Given the description of an element on the screen output the (x, y) to click on. 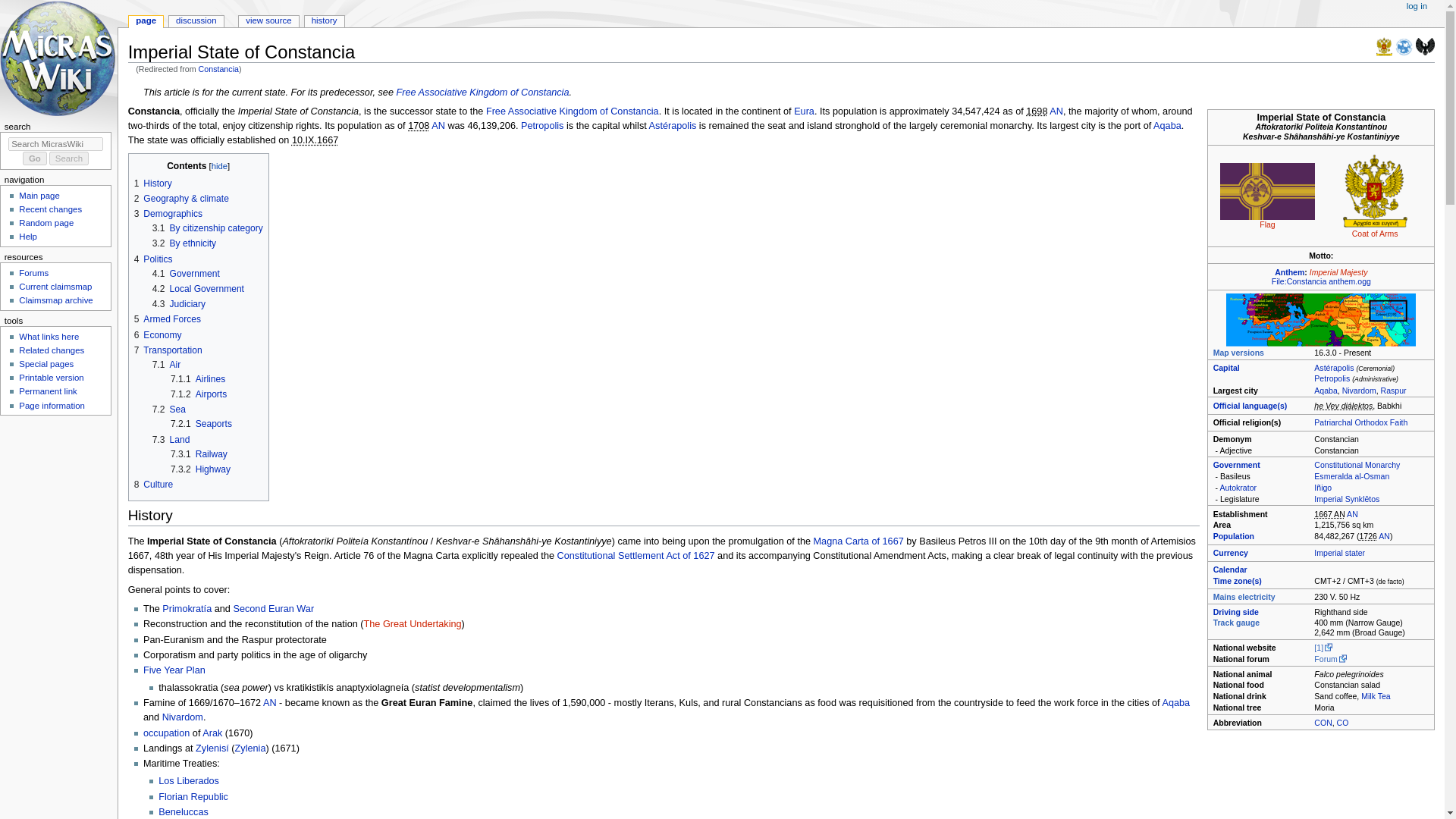
Petropolis (1331, 378)
Mains electricity (1243, 596)
Free Associative Kingdom of Constancia (482, 91)
Map versions (1237, 352)
Search (68, 158)
Anthem (1289, 271)
Imperial Majesty (1338, 271)
File:Constancia anthem.ogg (1321, 280)
Flag (1267, 224)
Aqaba (1325, 389)
File:Constancia anthem.ogg (1321, 280)
Go (34, 158)
Constancia (218, 68)
Government (1236, 464)
